Given the description of an element on the screen output the (x, y) to click on. 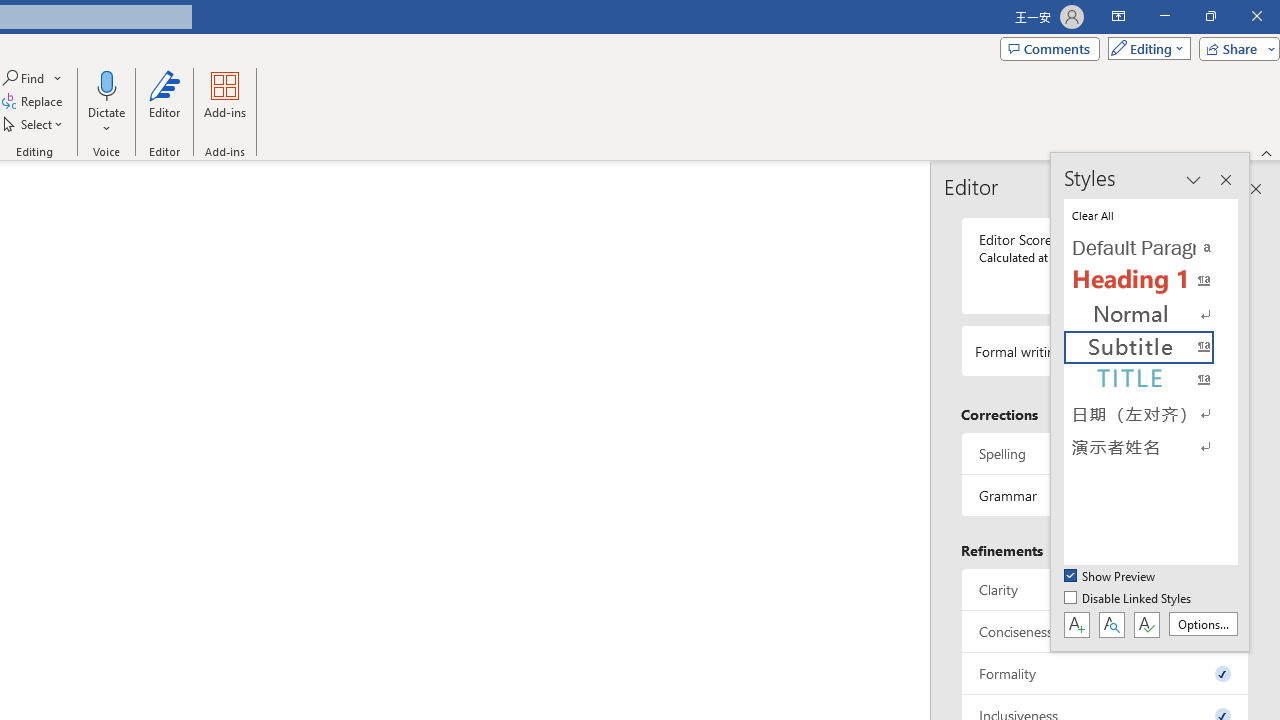
Conciseness, 0 issues. Press space or enter to review items. (1105, 631)
